Given the description of an element on the screen output the (x, y) to click on. 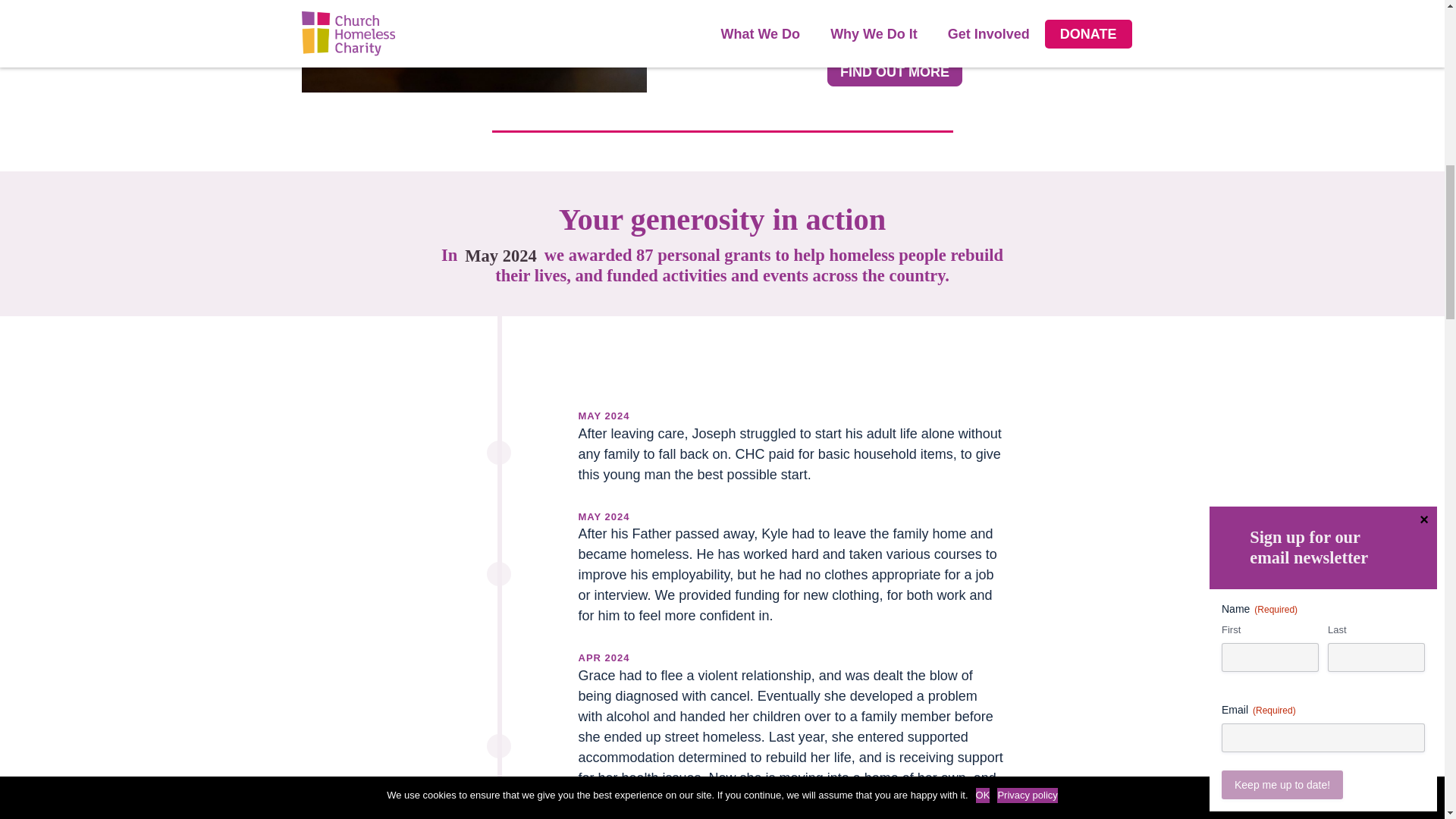
FIND OUT MORE (894, 71)
